Given the description of an element on the screen output the (x, y) to click on. 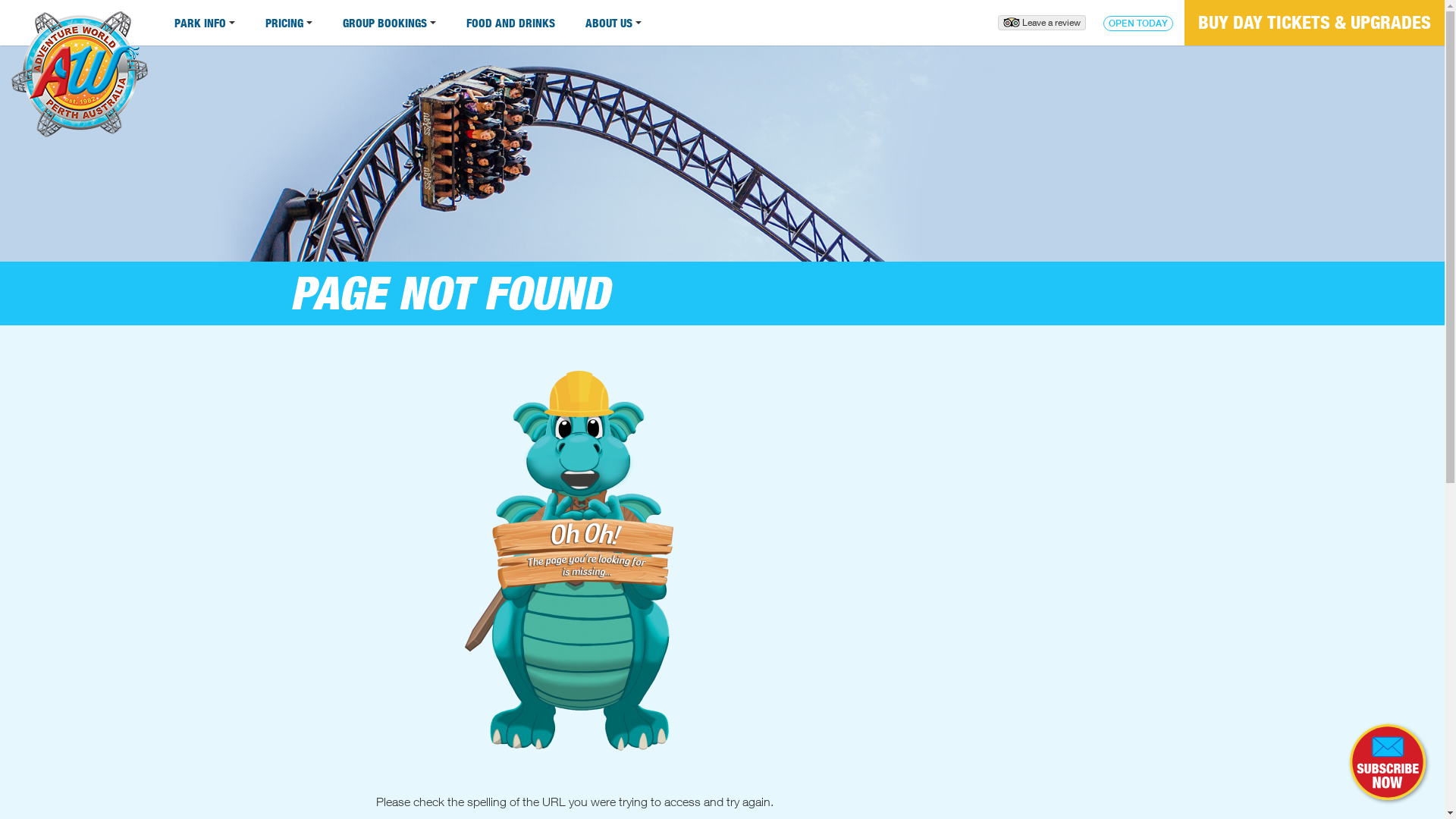
ADVENTURE WORLD Element type: text (79, 79)
FOOD AND DRINKS Element type: text (510, 22)
PARK INFO Element type: text (204, 22)
BUY DAY TICKETS & UPGRADES Element type: text (1314, 22)
ABOUT US Element type: text (613, 22)
OPEN TODAY Element type: text (1138, 23)
Leave a review Element type: text (1041, 22)
GROUP BOOKINGS Element type: text (389, 22)
PRICING Element type: text (288, 22)
